Given the description of an element on the screen output the (x, y) to click on. 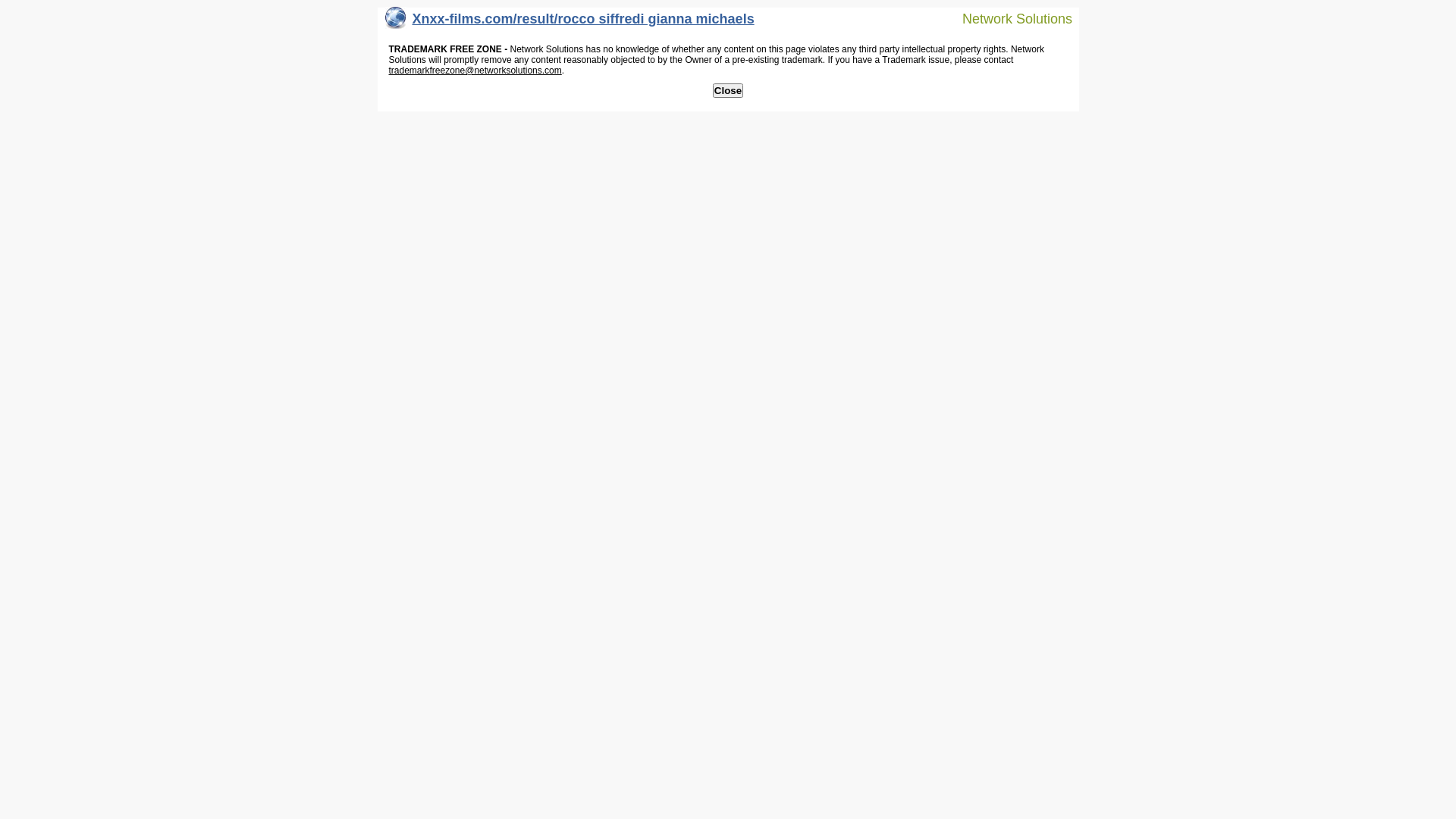
Xnxx-films.com/result/rocco siffredi gianna michaels Element type: text (569, 21)
Network Solutions Element type: text (1007, 17)
trademarkfreezone@networksolutions.com Element type: text (474, 70)
Close Element type: text (727, 90)
